Given the description of an element on the screen output the (x, y) to click on. 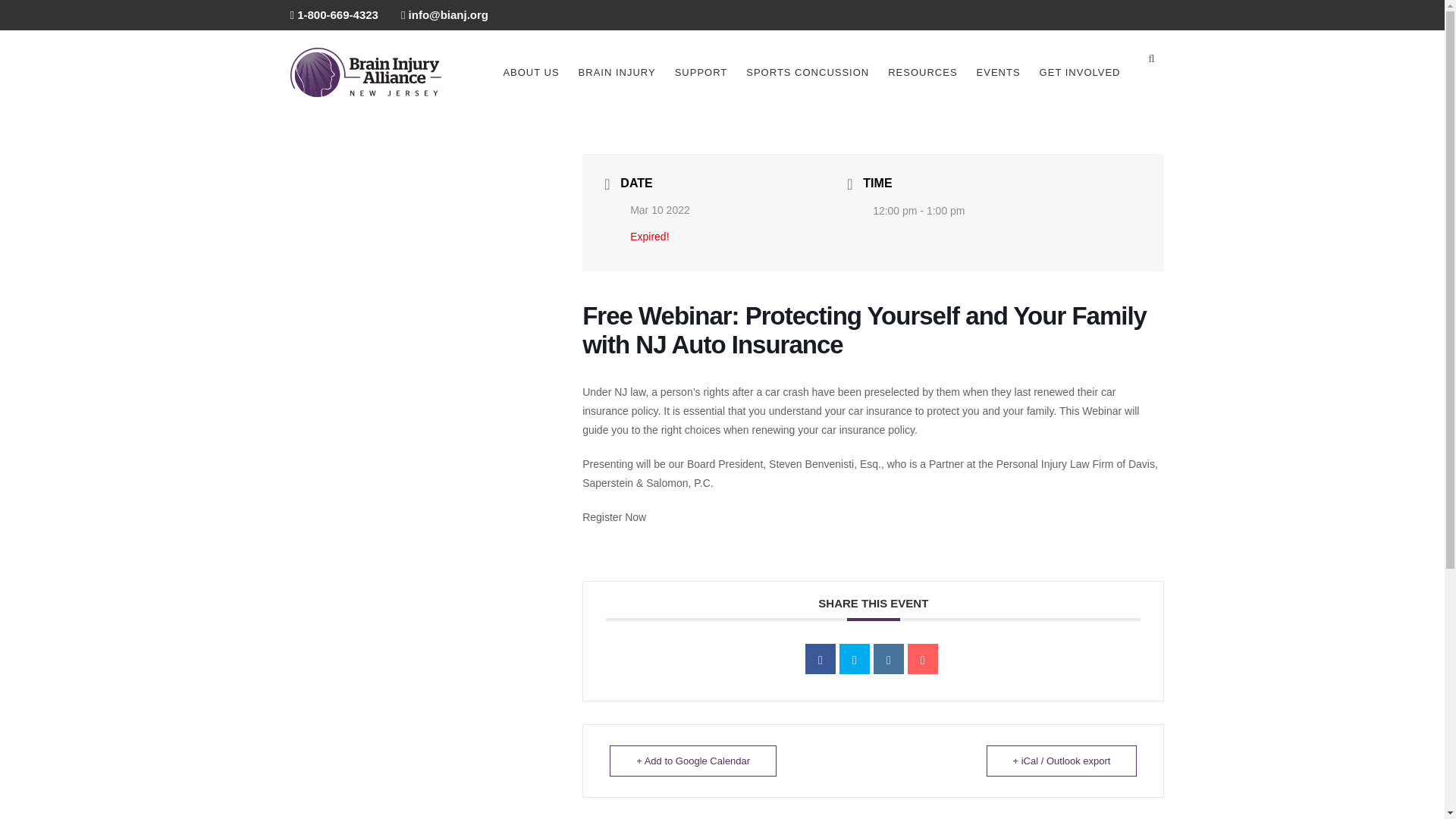
SUPPORT (701, 72)
ABOUT US (530, 72)
Email (922, 658)
Share on Facebook (820, 658)
BRAIN INJURY (617, 72)
Linkedin (888, 658)
Tweet (854, 658)
